Given the description of an element on the screen output the (x, y) to click on. 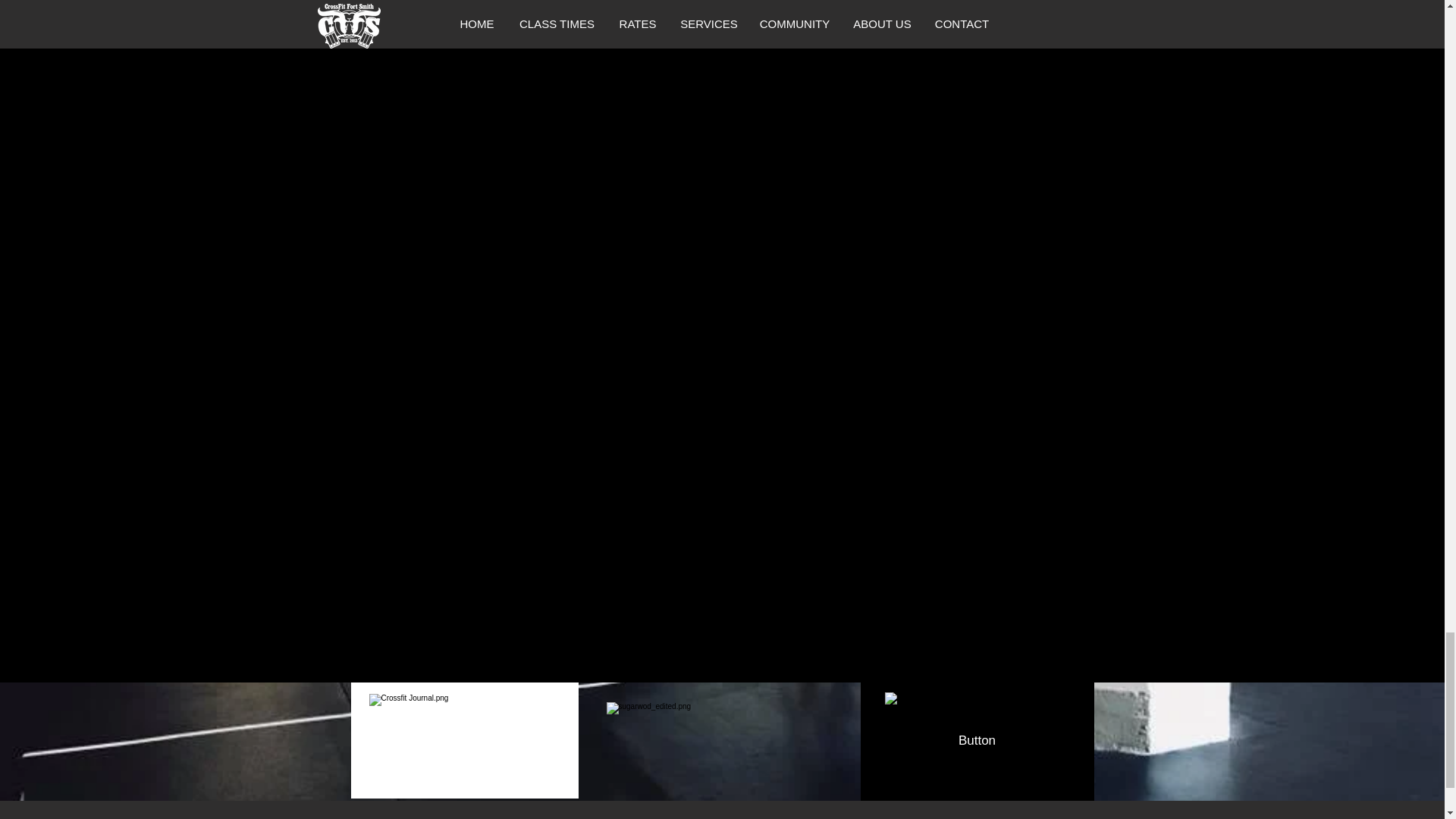
Button (976, 740)
